Given the description of an element on the screen output the (x, y) to click on. 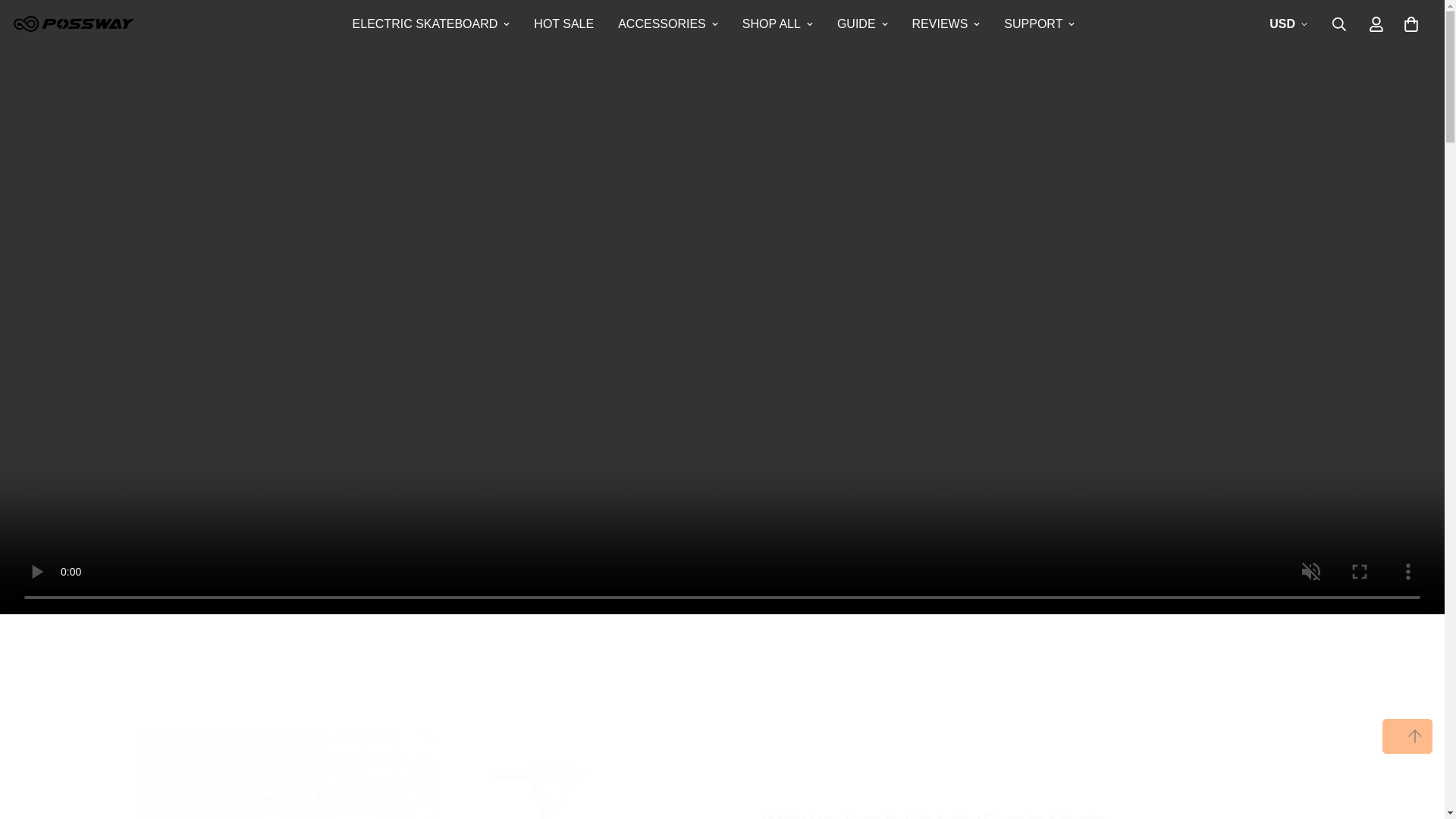
POSSWAY (73, 24)
